Given the description of an element on the screen output the (x, y) to click on. 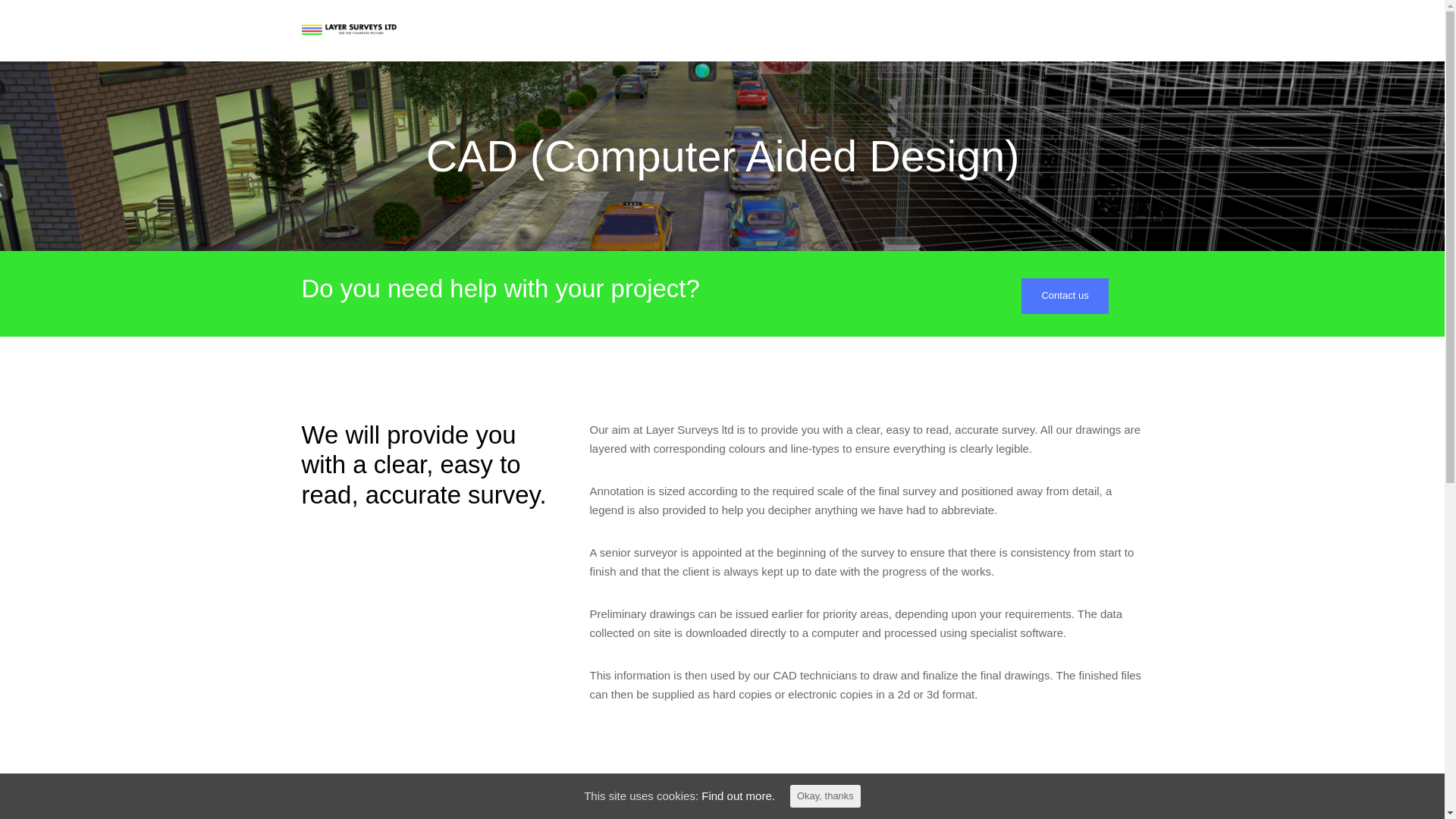
Contact us (1065, 295)
CONTACT US (1111, 30)
